Given the description of an element on the screen output the (x, y) to click on. 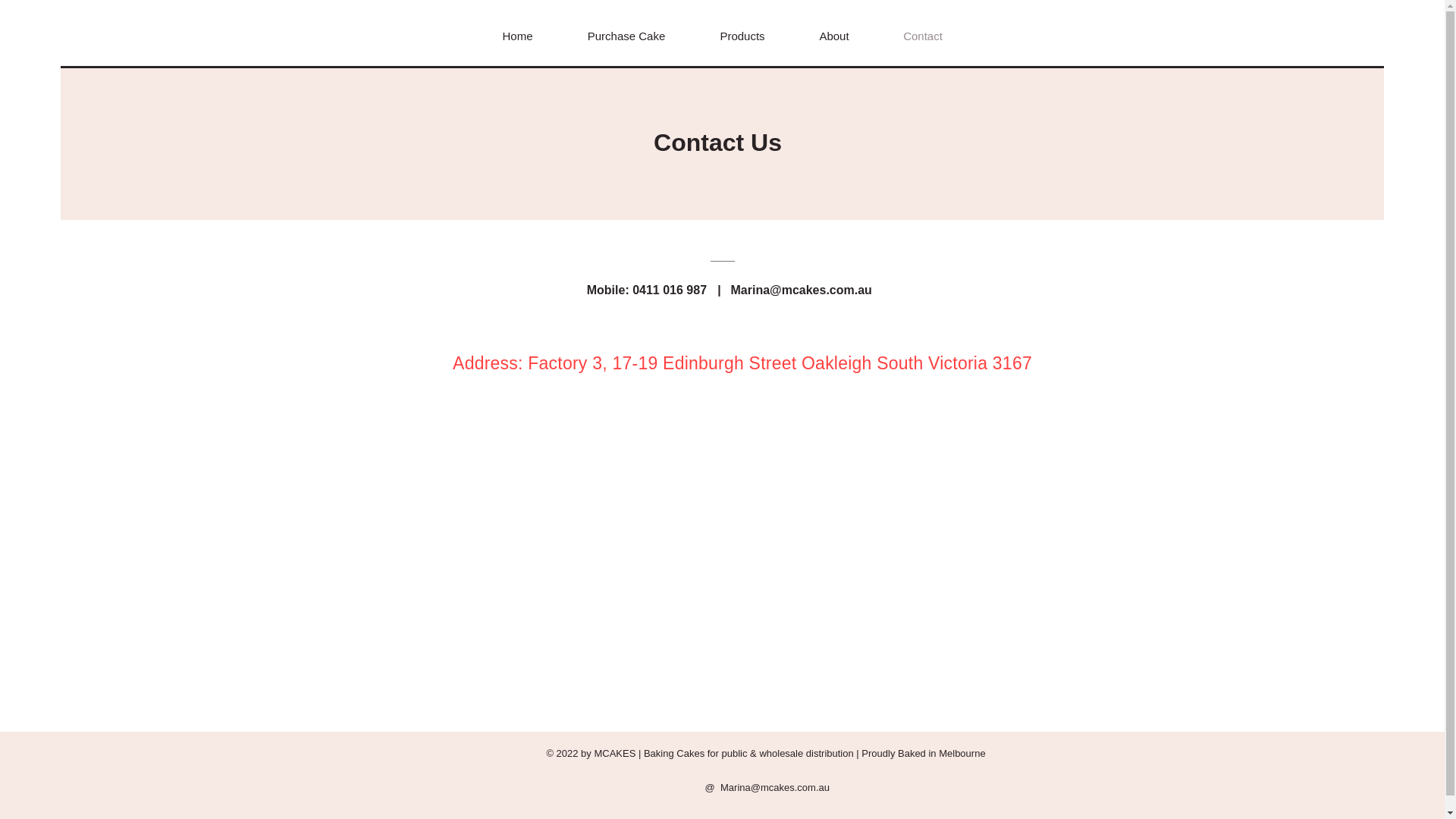
Products Element type: text (742, 35)
About Element type: text (833, 35)
Contact Element type: text (922, 35)
Purchase Cake Element type: text (625, 35)
Marina@mcakes.com.au Element type: text (774, 787)
Marina@mcakes.com.au Element type: text (801, 289)
Home Element type: text (516, 35)
